Given the description of an element on the screen output the (x, y) to click on. 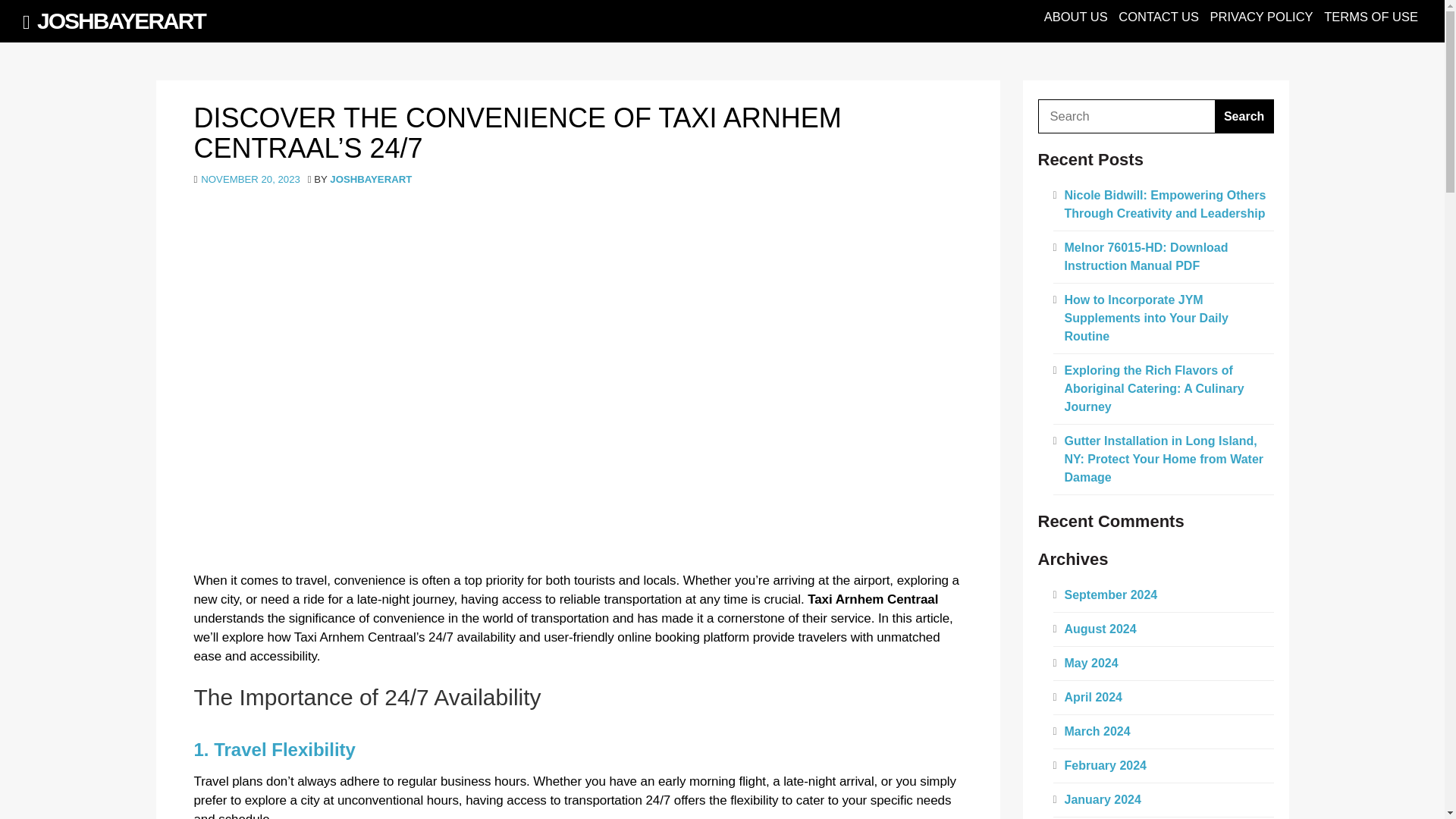
January 2024 (1102, 799)
May 2024 (1091, 662)
September 2024 (1110, 594)
April 2024 (1093, 697)
TERMS OF USE (1370, 16)
How to Incorporate JYM Supplements into Your Daily Routine (1146, 318)
JOSHBAYERART (371, 179)
Melnor 76015-HD: Download Instruction Manual PDF (1146, 255)
NOVEMBER 20, 2023 (249, 179)
